Given the description of an element on the screen output the (x, y) to click on. 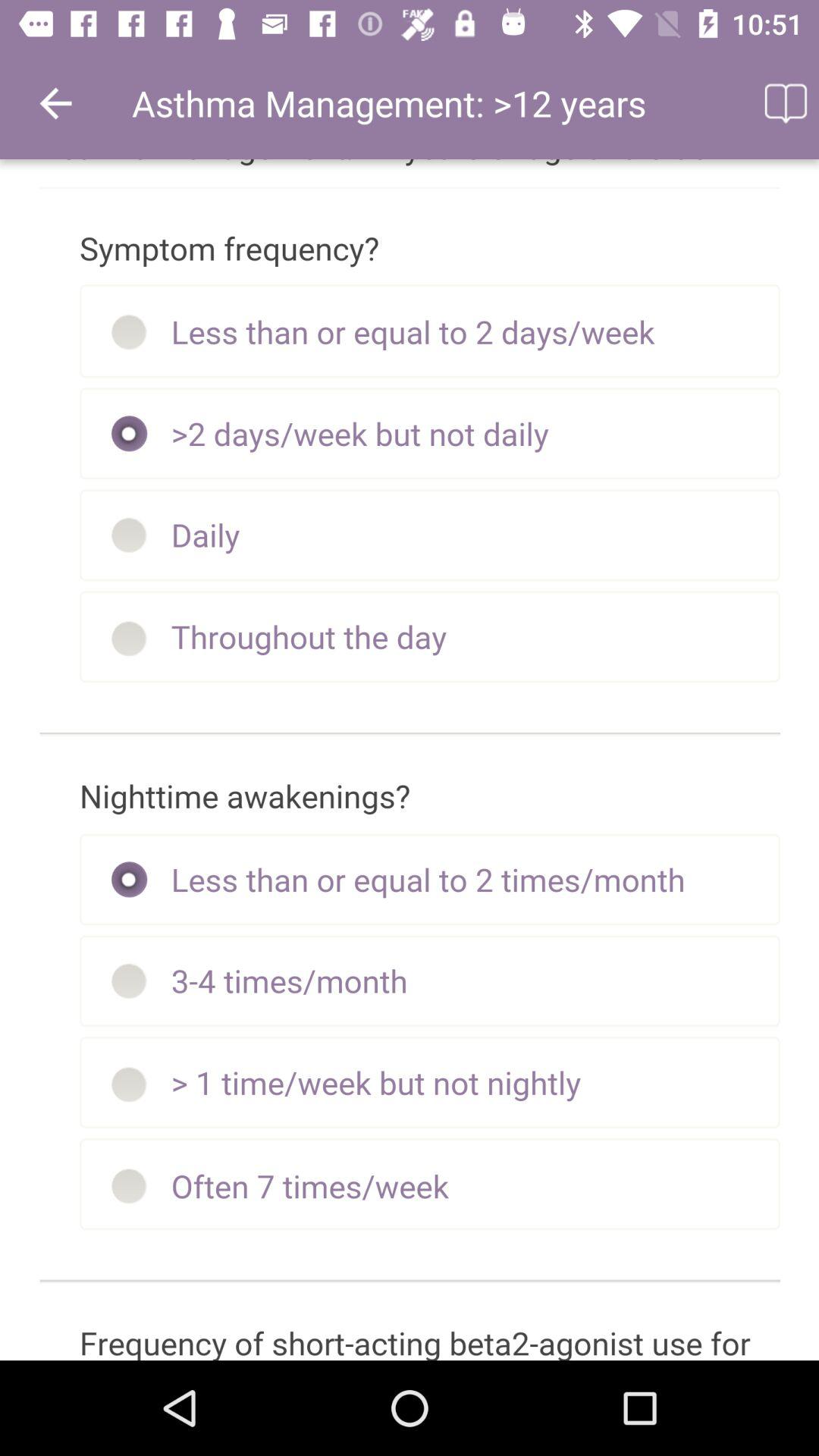
tap icon at the top right corner (784, 103)
